Given the description of an element on the screen output the (x, y) to click on. 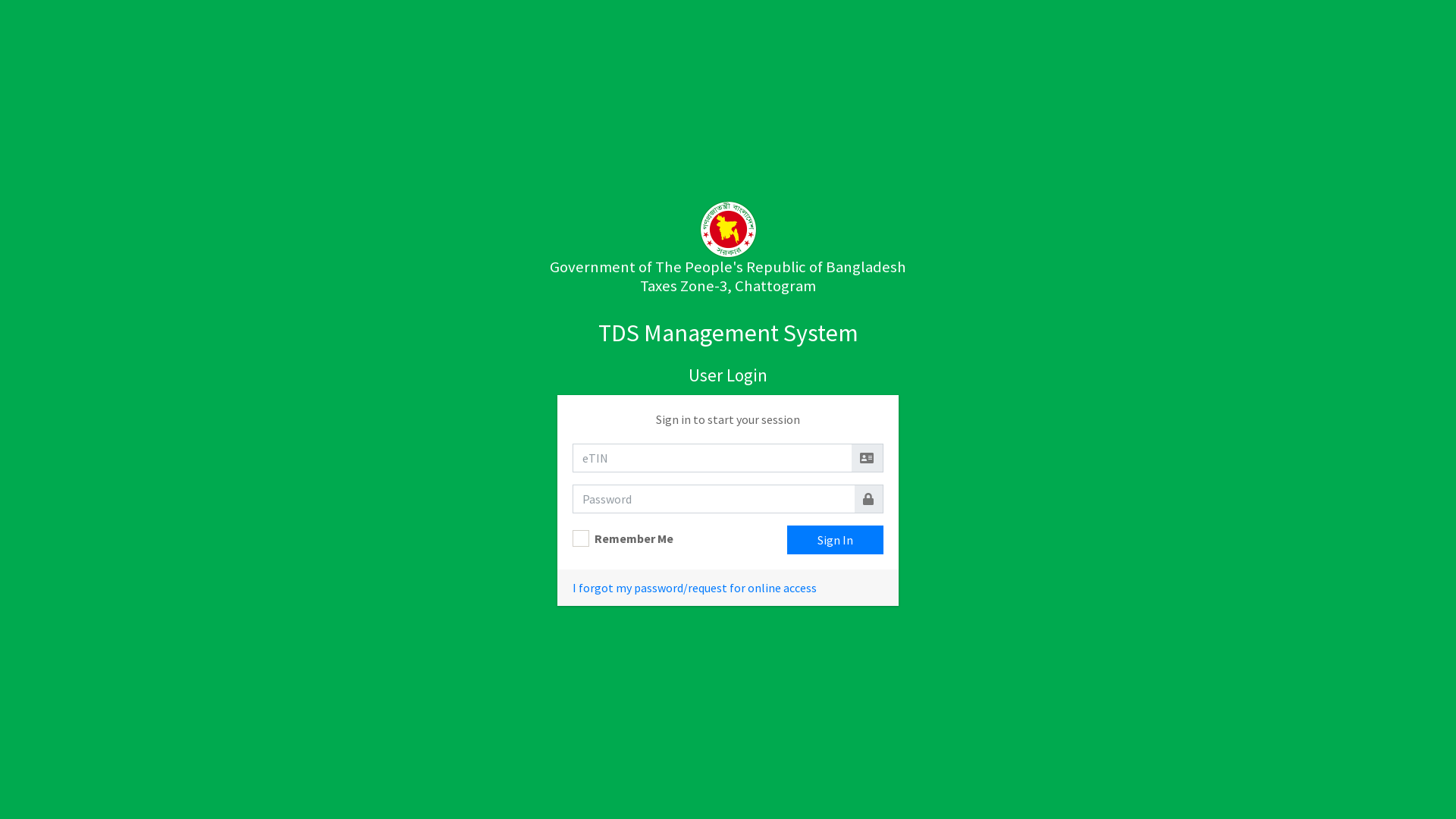
I forgot my password/request for online access Element type: text (694, 587)
Sign In Element type: text (835, 539)
User Login Element type: text (727, 374)
